Given the description of an element on the screen output the (x, y) to click on. 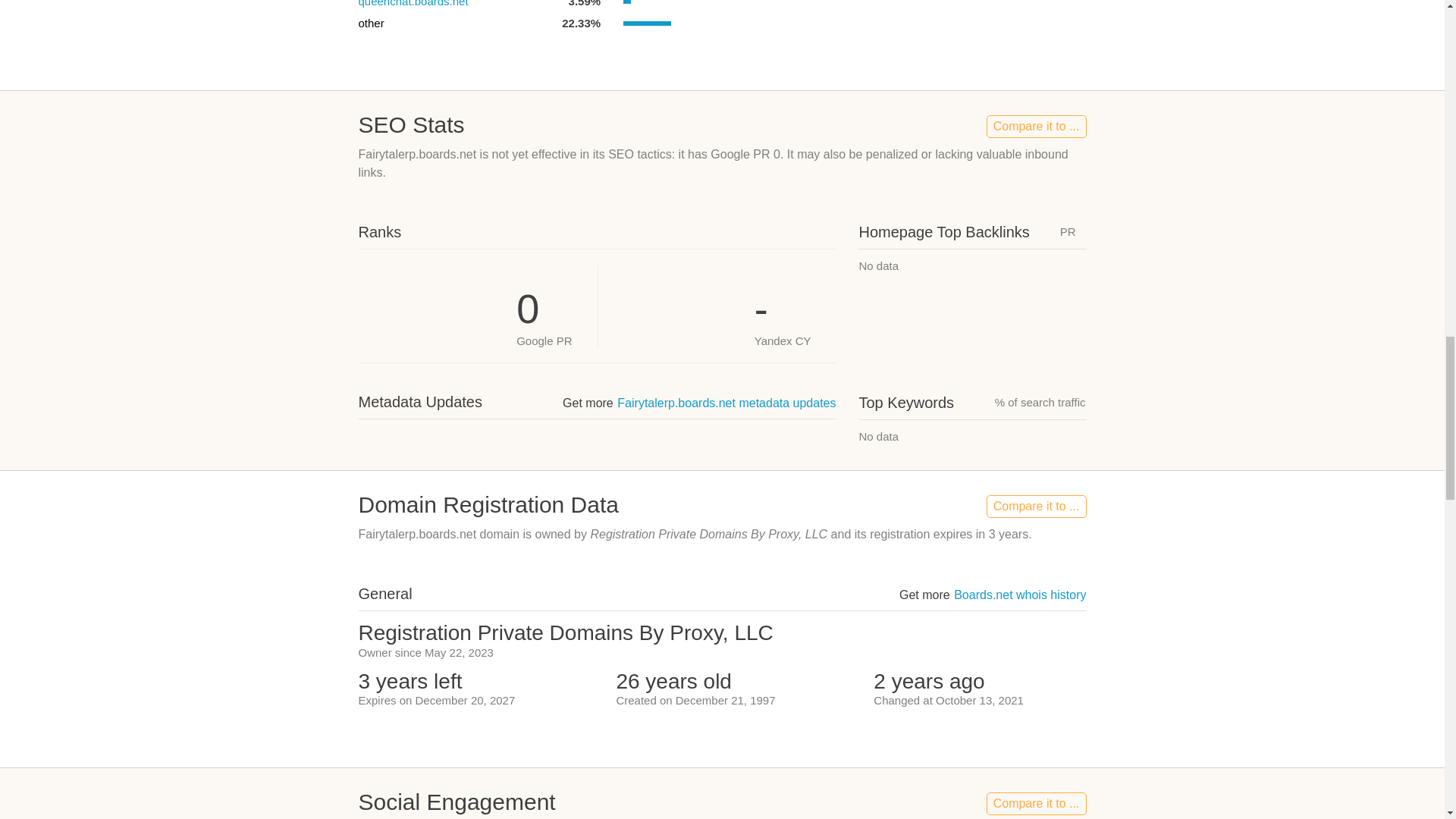
Boards.net whois history (1019, 594)
queenchat.boards.net (412, 3)
Fairytalerp.boards.net metadata updates (726, 402)
Compare it to ... (1036, 506)
Compare it to ... (1036, 803)
Compare it to ... (1036, 126)
